Given the description of an element on the screen output the (x, y) to click on. 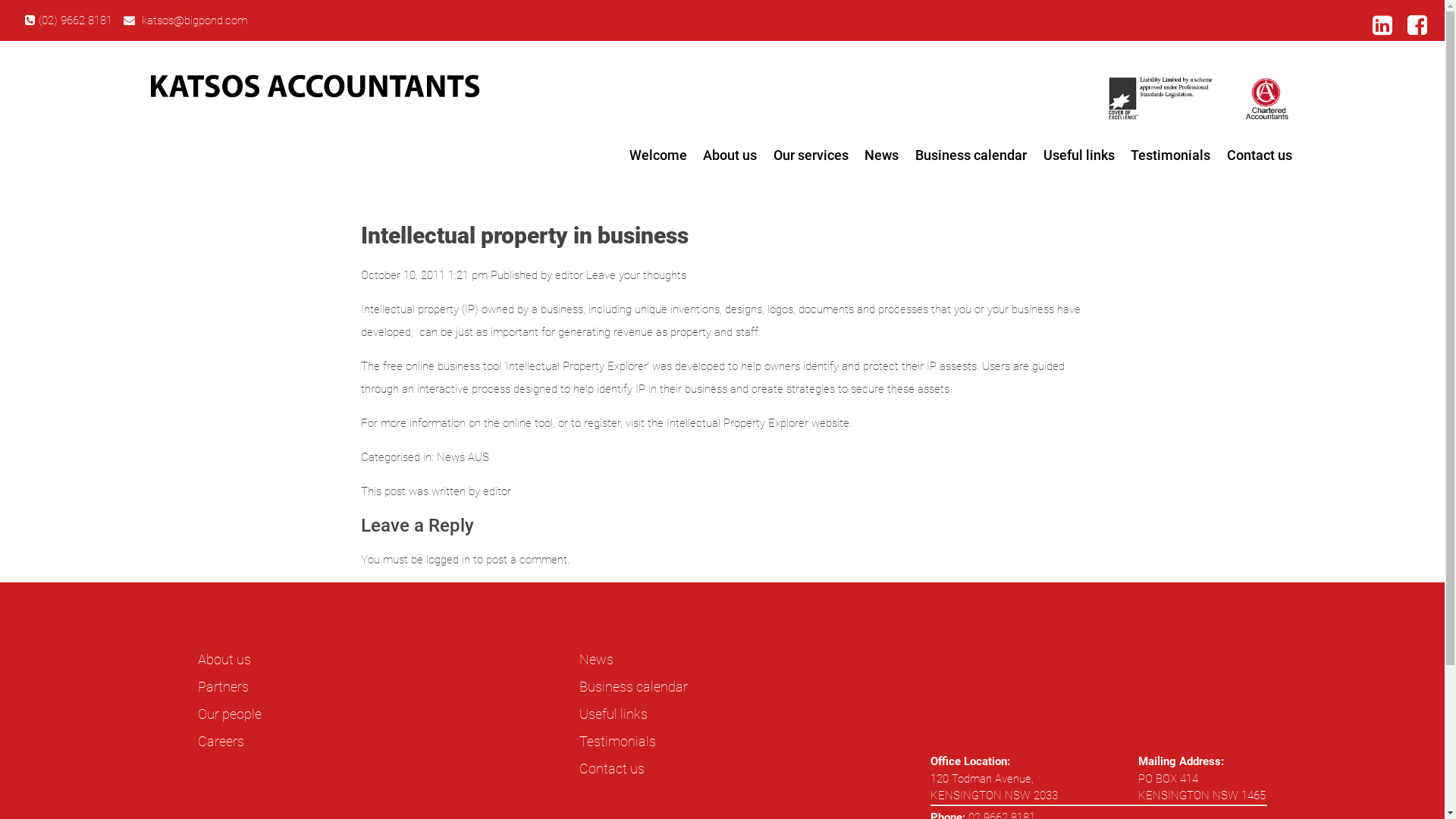
Business calendar Element type: text (970, 155)
Useful links Element type: text (613, 713)
Business calendar Element type: text (633, 686)
logged in Element type: text (448, 559)
Our services Element type: text (810, 155)
Testimonials Element type: text (617, 741)
Partners Element type: text (222, 686)
Testimonials Element type: text (1170, 155)
News Element type: text (596, 659)
About us Element type: text (224, 659)
Our people Element type: text (229, 713)
Contact us Element type: text (611, 768)
Intellectual Property Explorer Element type: text (737, 422)
Useful links Element type: text (1079, 155)
Leave your thoughts Element type: text (636, 275)
News Element type: text (881, 155)
Welcome Element type: text (658, 155)
Contact us Element type: text (1259, 155)
Careers Element type: text (220, 741)
logo Element type: hover (314, 85)
Intellectual property in business Element type: text (524, 235)
About us Element type: text (729, 155)
editor Element type: text (569, 275)
News AUS Element type: text (462, 457)
